Given the description of an element on the screen output the (x, y) to click on. 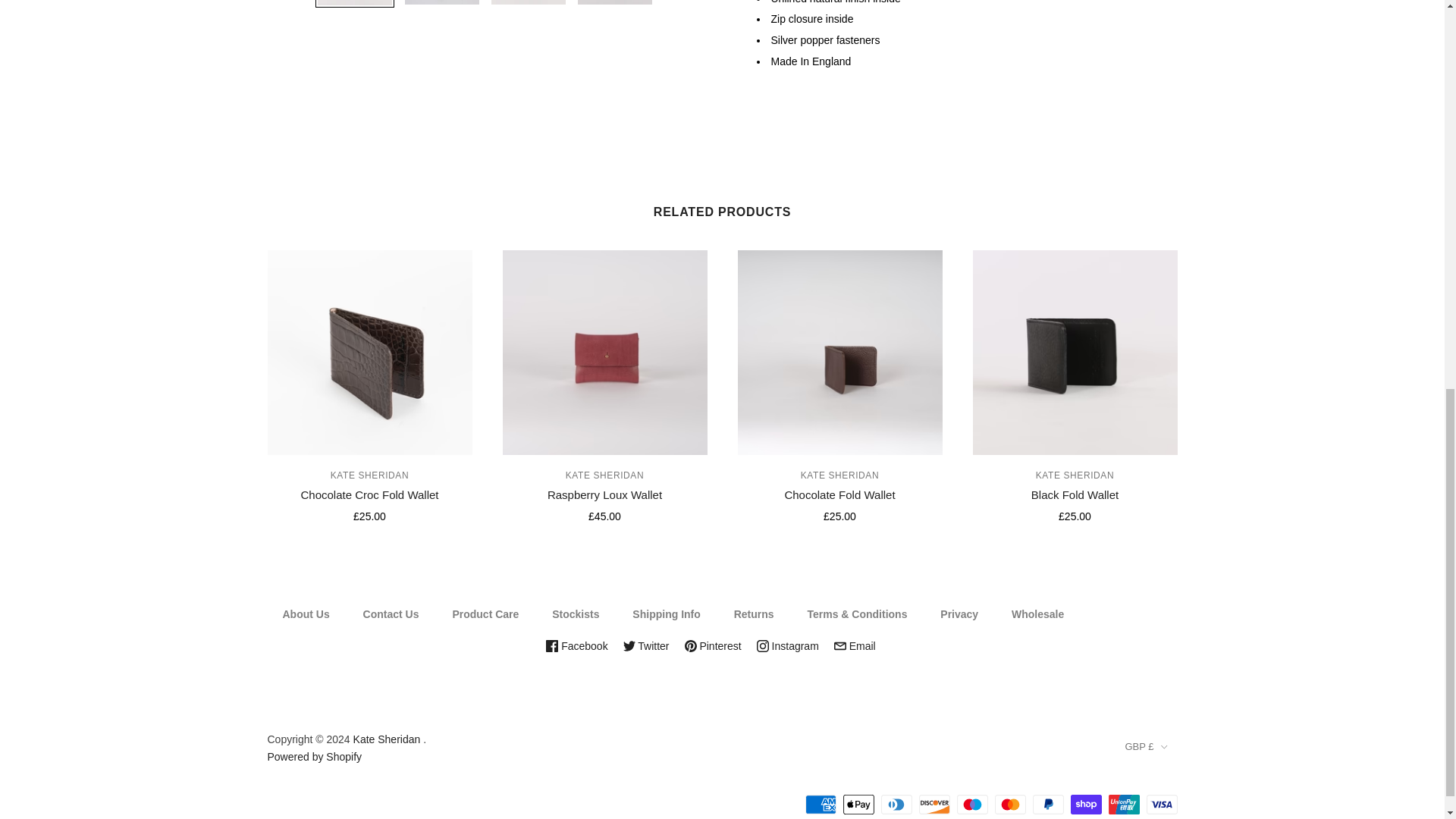
Kate Sheridan (369, 475)
Mastercard (1010, 804)
Apple Pay (859, 804)
Kate Sheridan (604, 475)
Shop Pay (1086, 804)
Diners Club (896, 804)
Facebook (576, 645)
Kate Sheridan (1074, 475)
Instagram (787, 645)
American Express (820, 804)
